Given the description of an element on the screen output the (x, y) to click on. 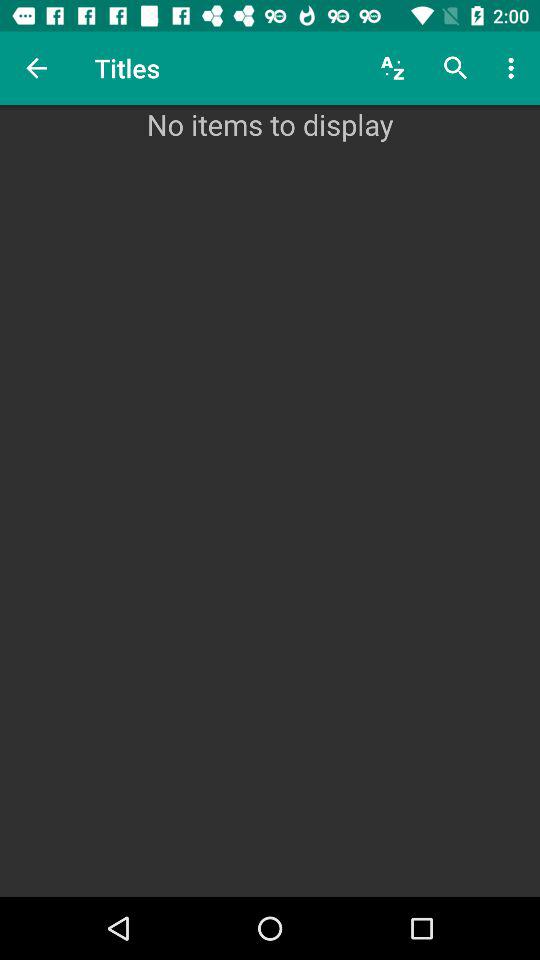
click item next to titles item (392, 67)
